Given the description of an element on the screen output the (x, y) to click on. 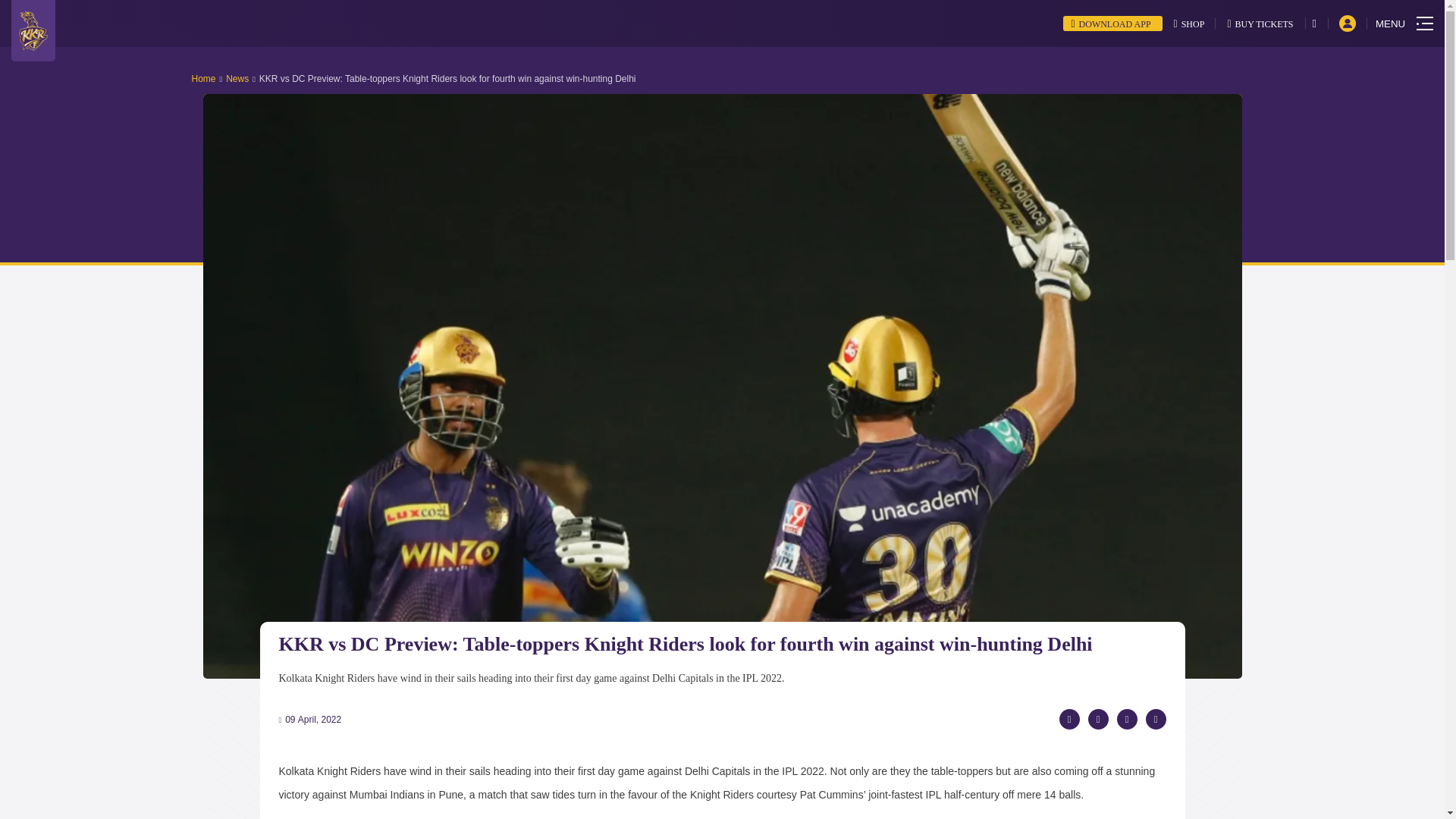
Share on Facebook (1068, 719)
SHOP (1188, 23)
Share on Twitter (1097, 719)
Copy Link (1155, 719)
Share on WhatsApp (1126, 719)
Search (1320, 23)
BUY TICKETS (1259, 23)
DOWNLOAD APP (1111, 23)
News (236, 78)
Home (202, 78)
